Given the description of an element on the screen output the (x, y) to click on. 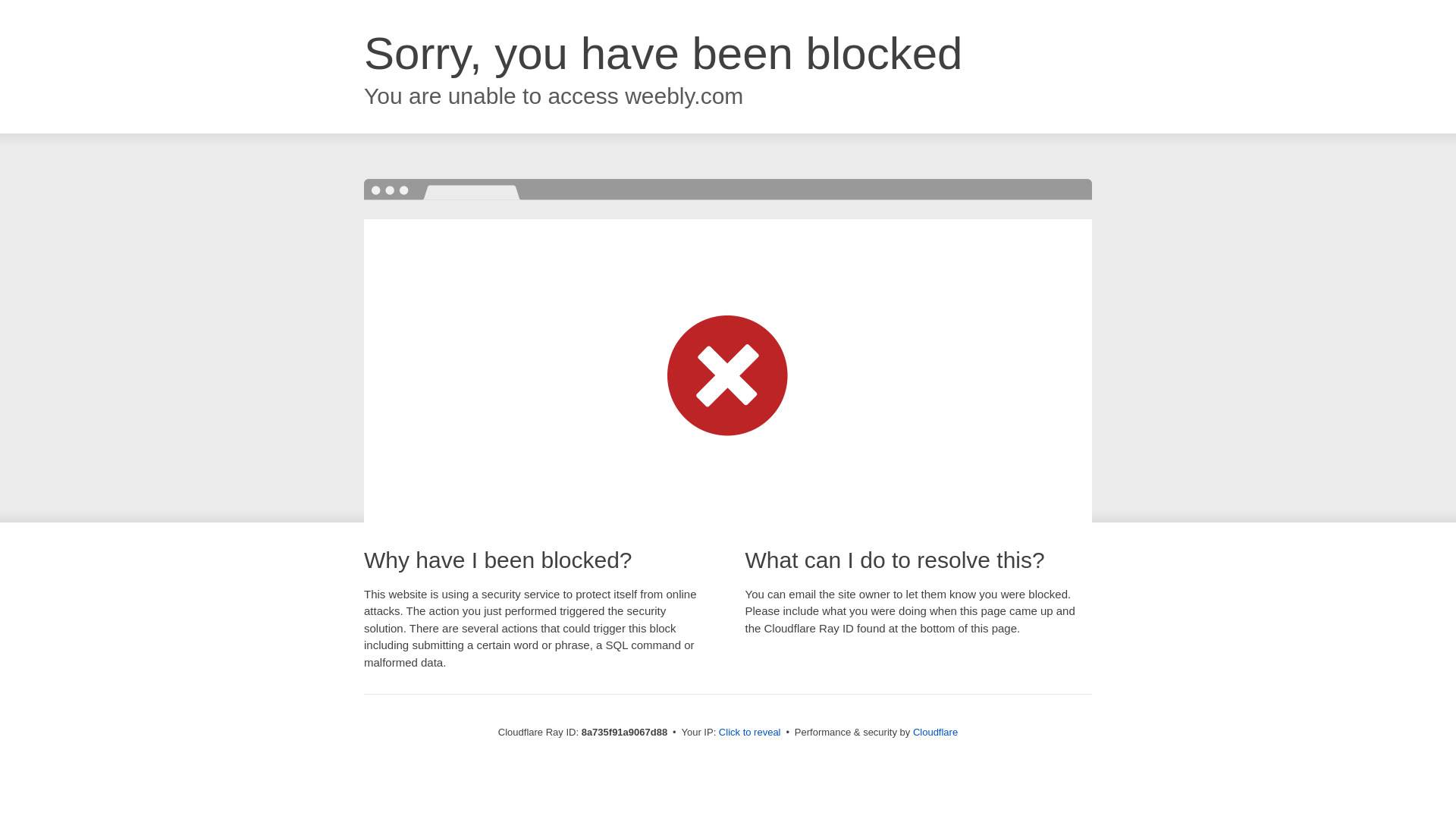
Click to reveal (749, 732)
Cloudflare (935, 731)
